Given the description of an element on the screen output the (x, y) to click on. 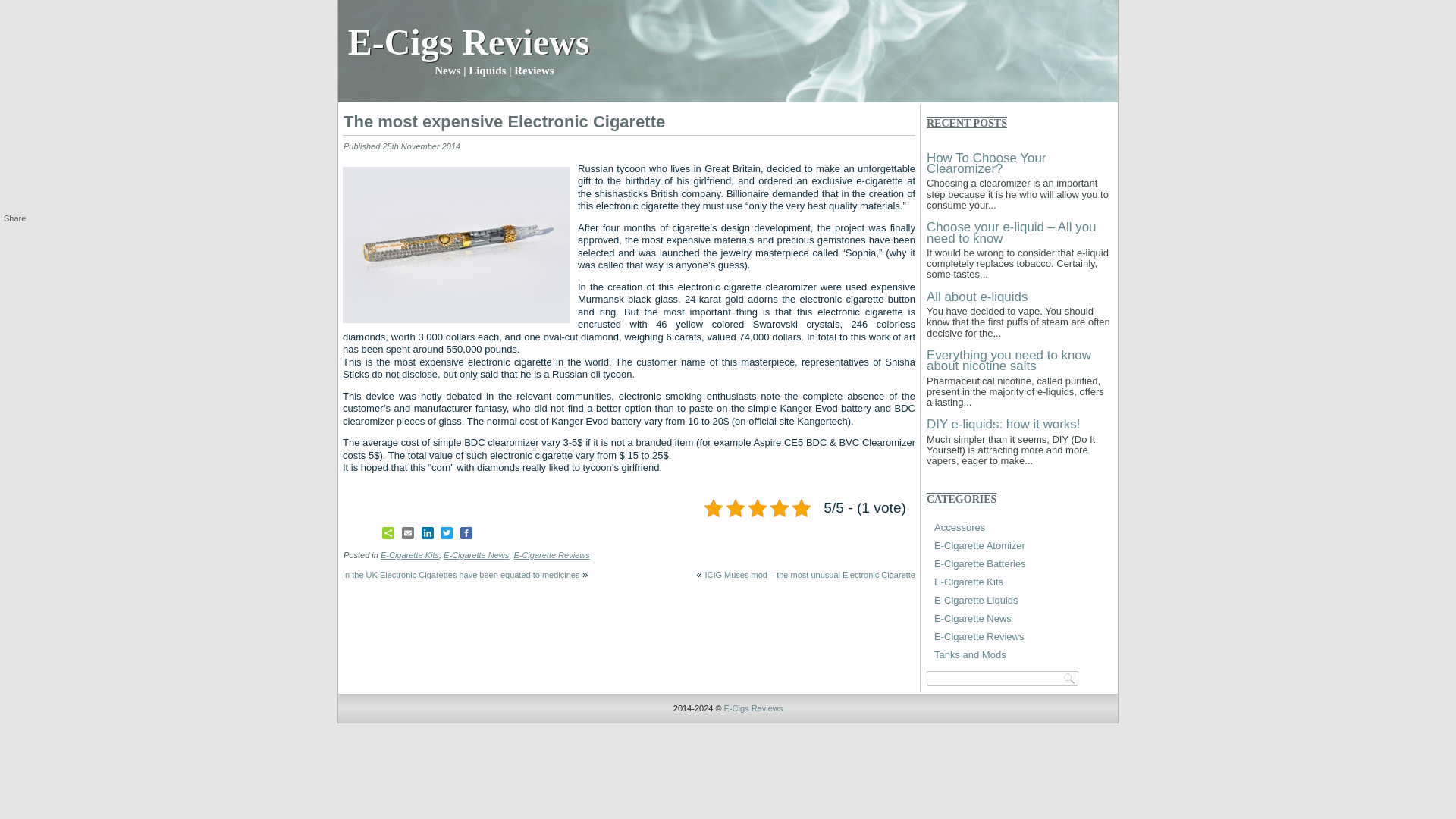
Accessores (959, 527)
10:46 am (420, 145)
All about e-liquids (976, 296)
E-Cigarette Reviews (551, 554)
E-Cigarette Atomizer (979, 545)
E-Cigarette Batteries (980, 563)
E-Cigarette News (476, 554)
E-Cigarette News (972, 618)
DIY e-liquids: how it works! (1003, 423)
E-Cigarette Liquids (975, 600)
Everything you need to know about nicotine salts (1008, 360)
E-Cigs Reviews (753, 707)
How To Choose Your Clearomizer? (985, 163)
